Given the description of an element on the screen output the (x, y) to click on. 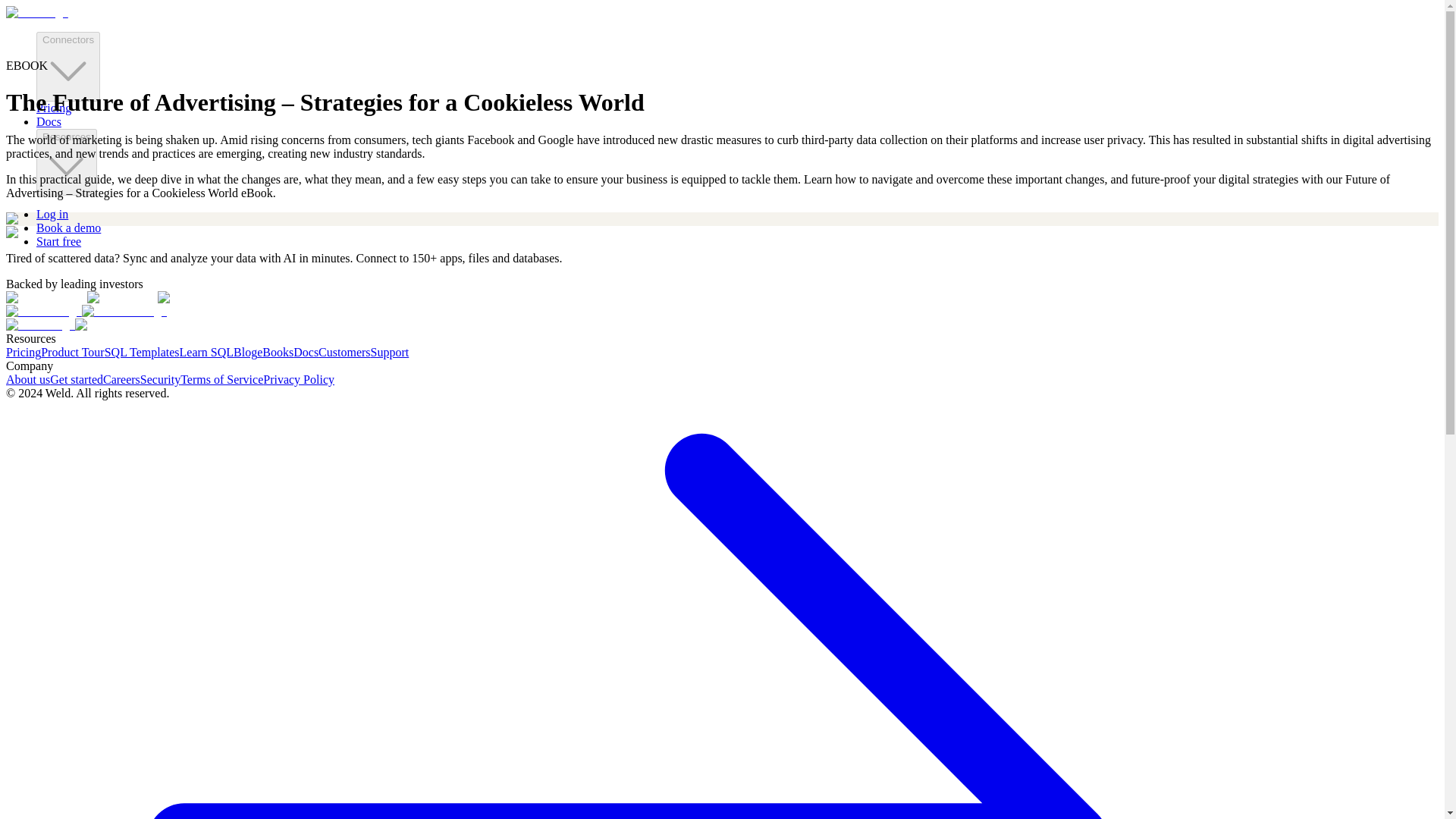
Log in (52, 214)
Learn SQL (206, 351)
Support (390, 351)
Pricing (53, 107)
Privacy Policy (298, 379)
About us (27, 379)
Terms of Service (221, 379)
Get started (76, 379)
Blog (244, 351)
Docs (48, 121)
